Given the description of an element on the screen output the (x, y) to click on. 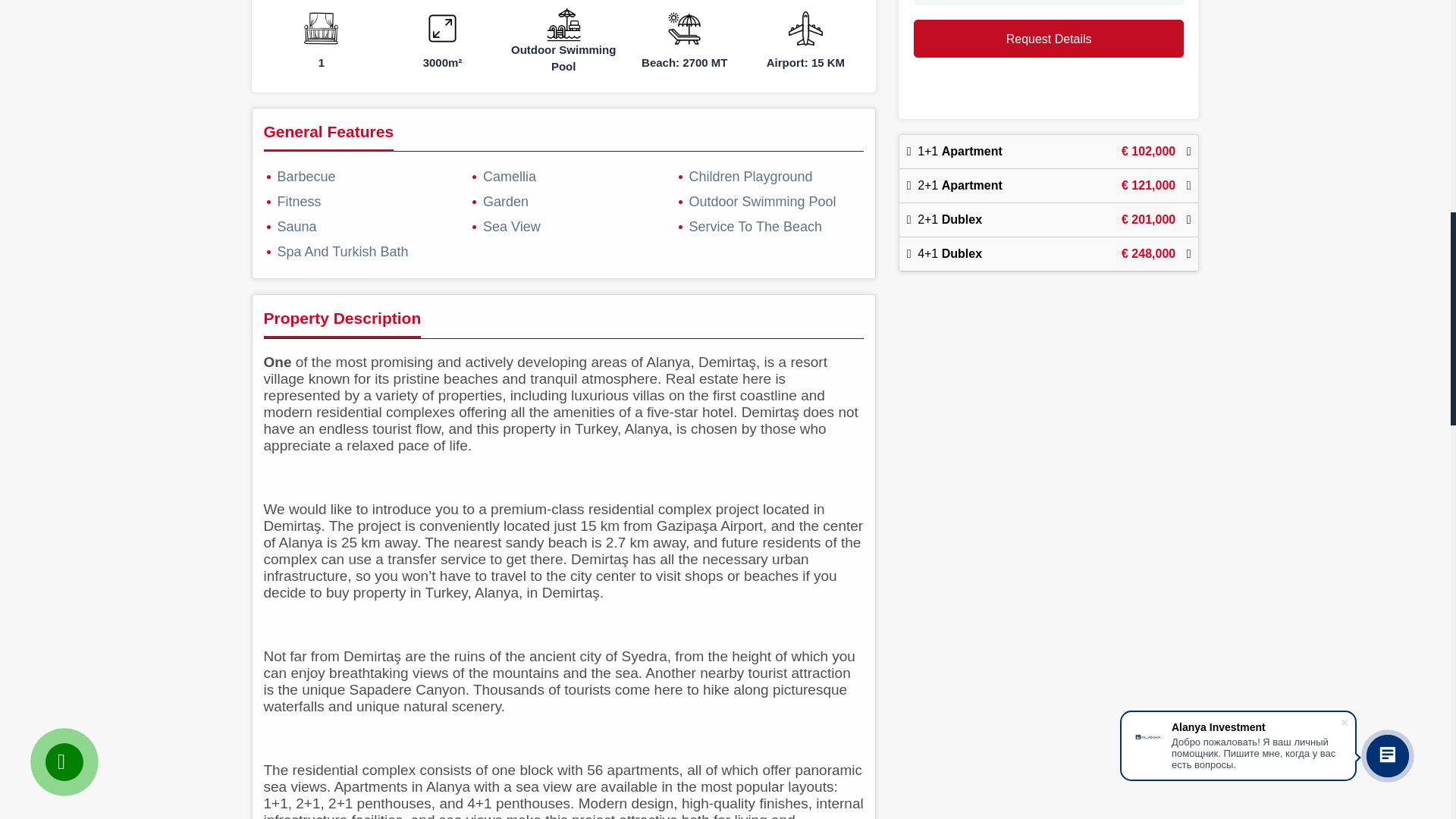
Request Details (1049, 38)
